Given the description of an element on the screen output the (x, y) to click on. 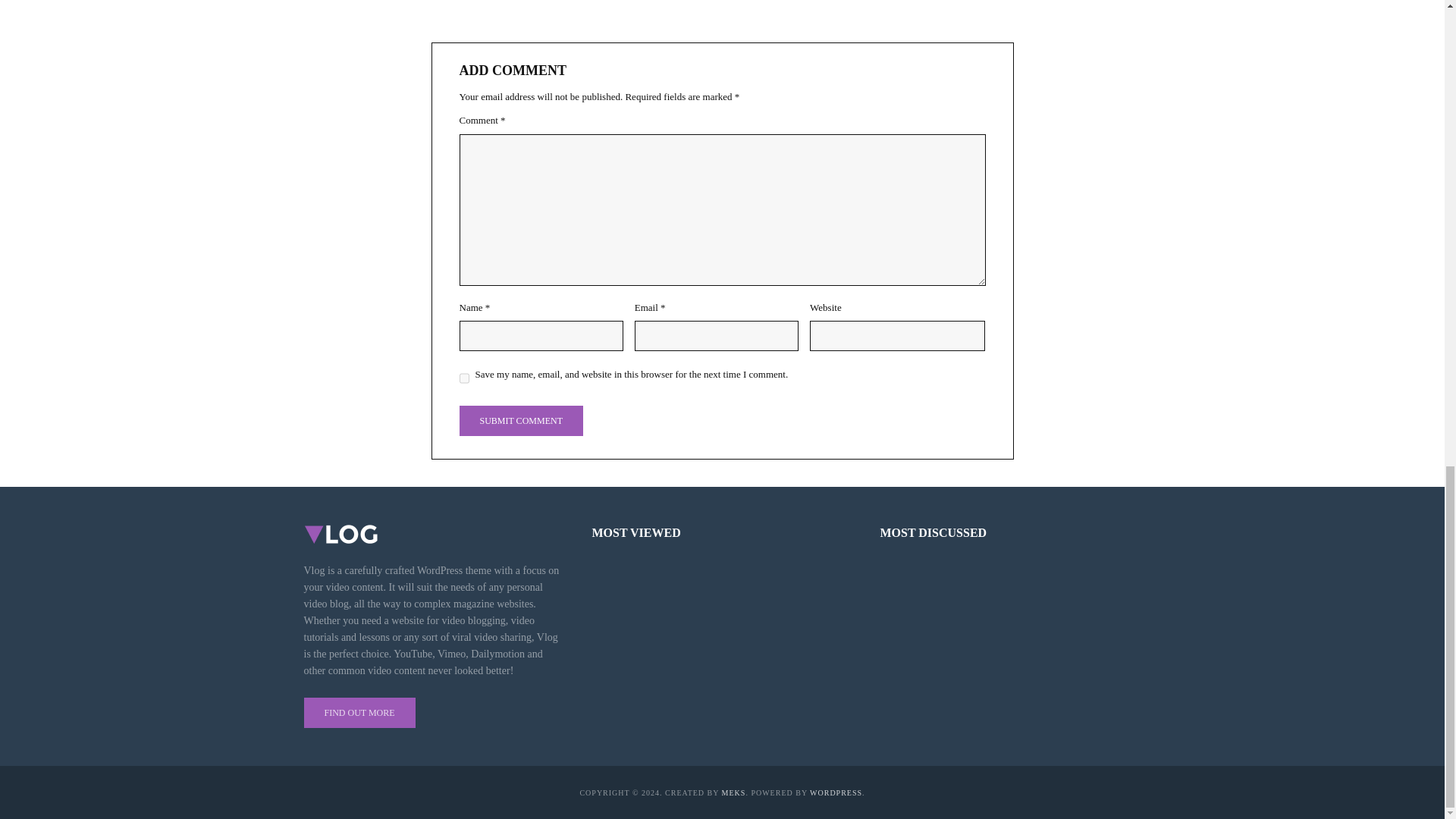
Submit Comment (521, 420)
